Given the description of an element on the screen output the (x, y) to click on. 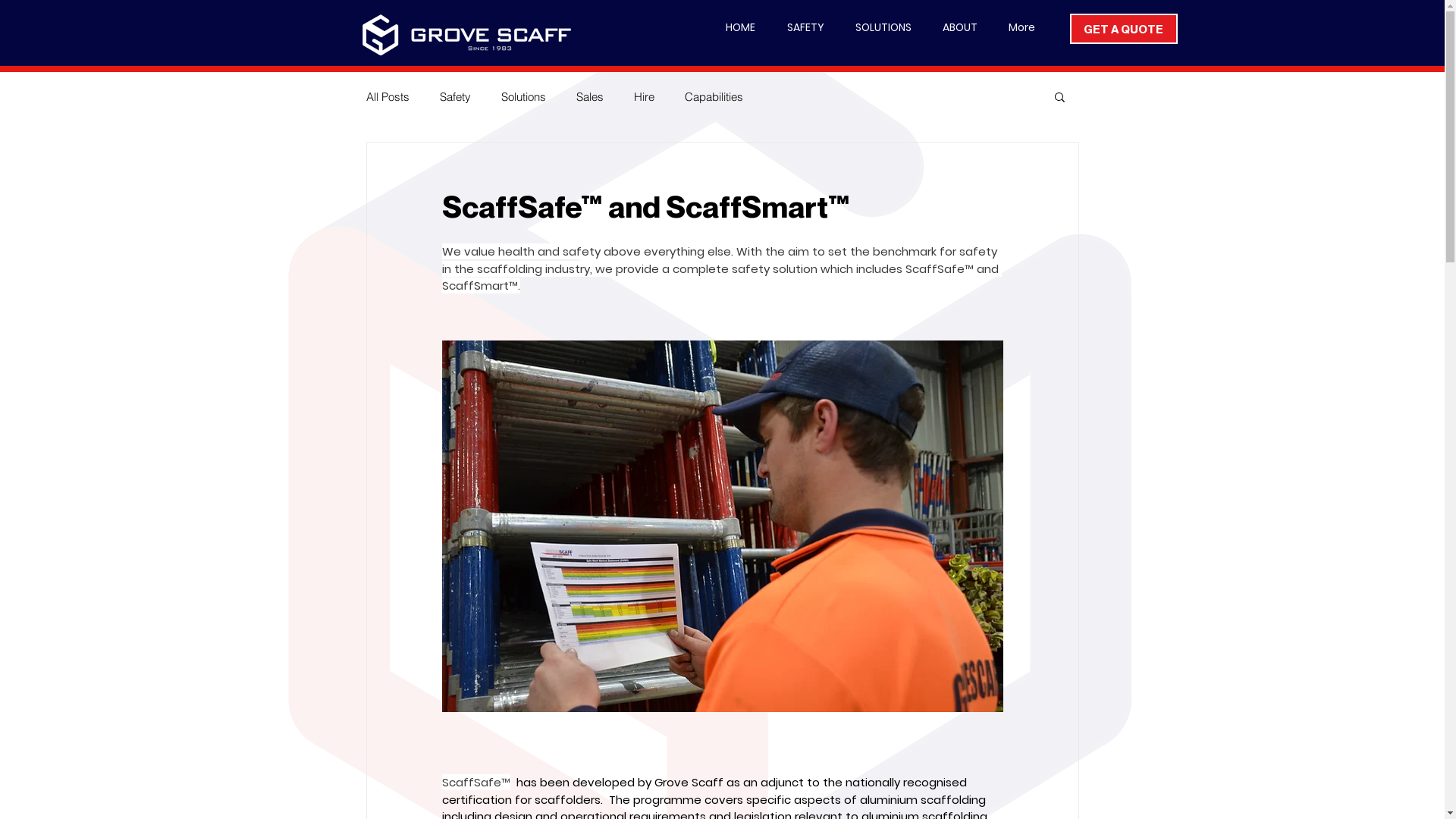
All Posts Element type: text (386, 96)
Safety Element type: text (454, 96)
ABOUT Element type: text (959, 27)
Sales Element type: text (589, 96)
SOLUTIONS Element type: text (883, 27)
HOME Element type: text (740, 27)
Capabilities Element type: text (713, 96)
SAFETY Element type: text (804, 27)
Solutions Element type: text (522, 96)
Hire Element type: text (643, 96)
GET A QUOTE Element type: text (1122, 28)
